Given the description of an element on the screen output the (x, y) to click on. 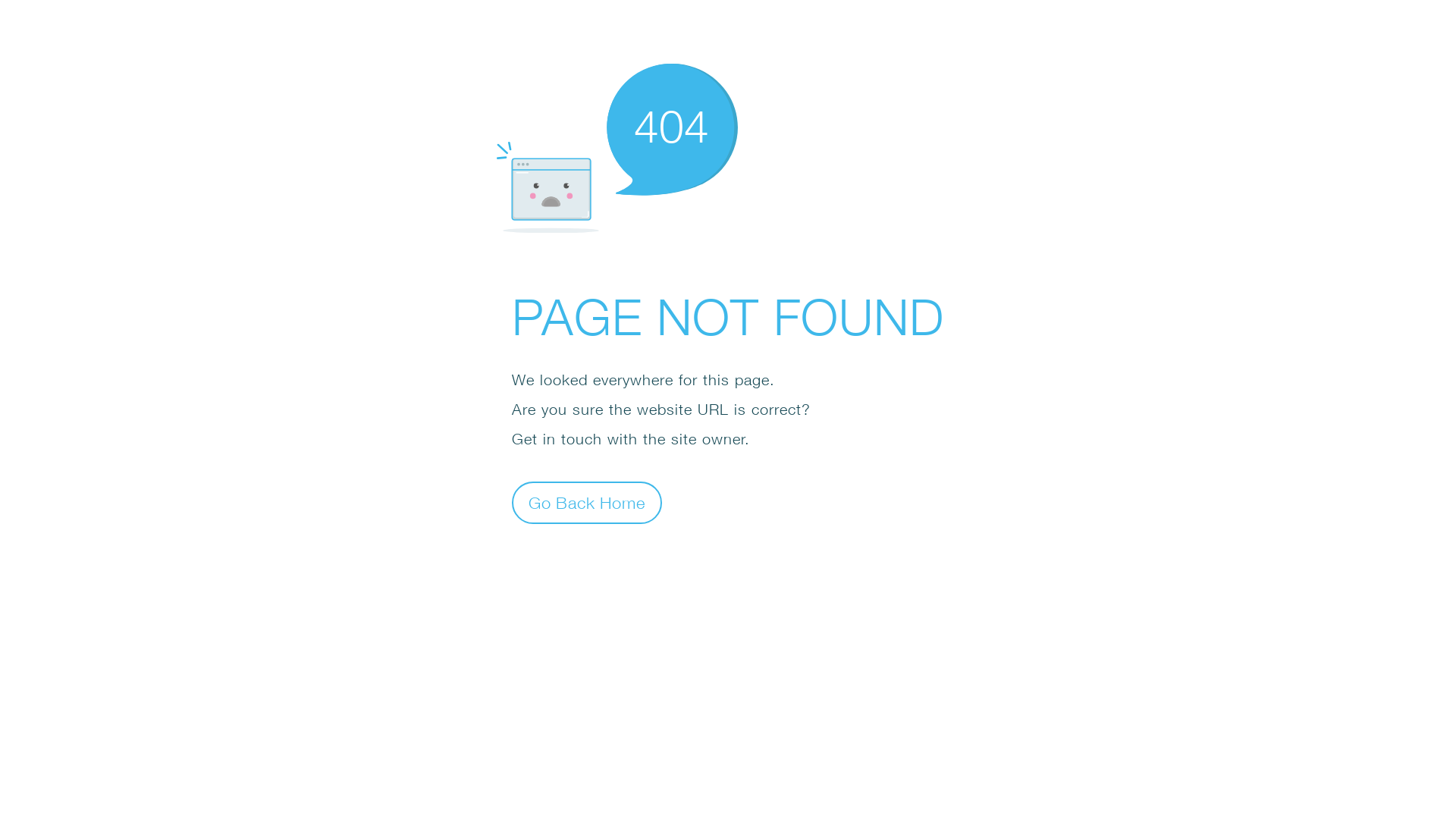
Go Back Home Element type: text (586, 502)
